Given the description of an element on the screen output the (x, y) to click on. 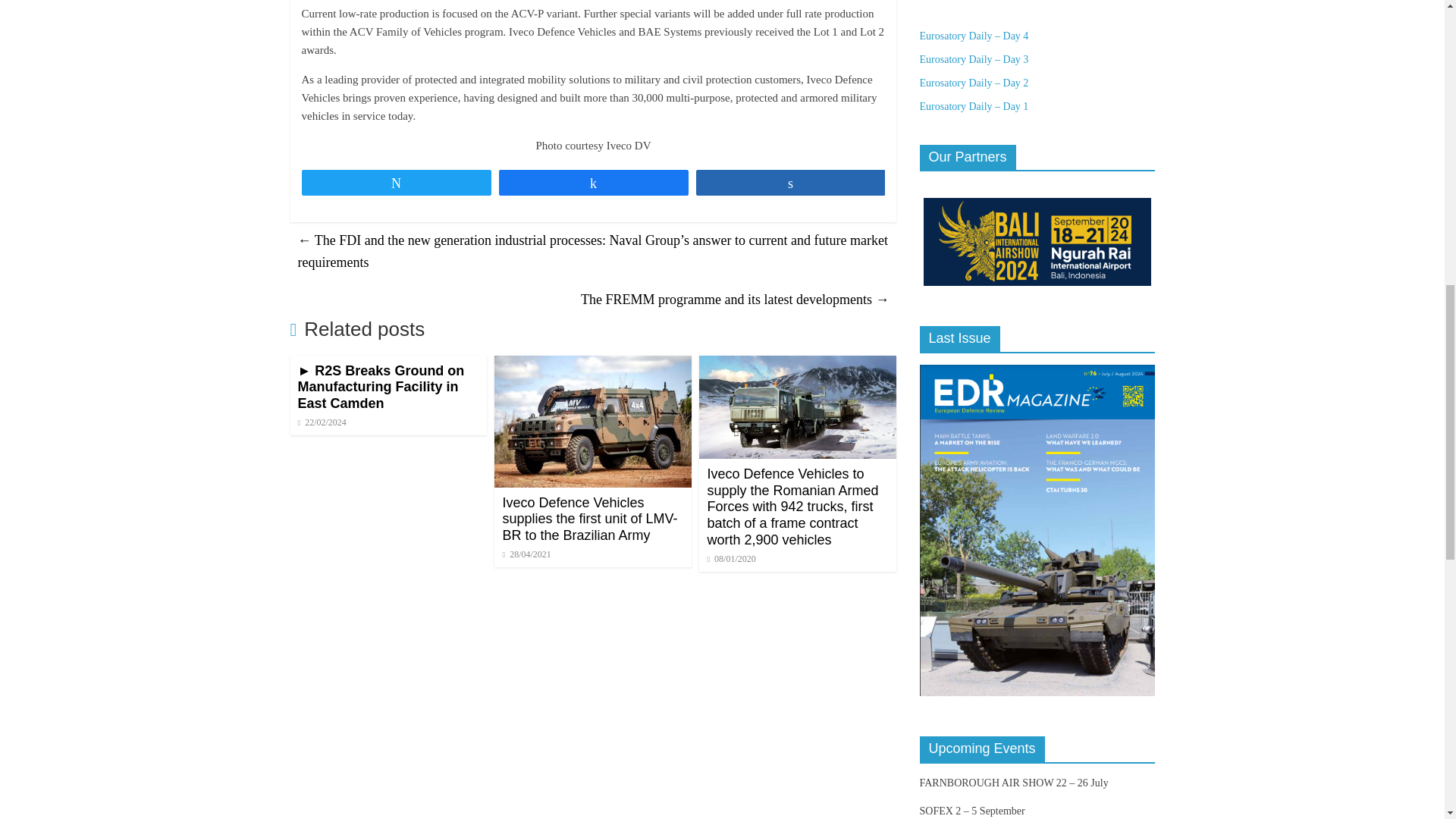
09:02 (526, 553)
08:15 (321, 421)
